Given the description of an element on the screen output the (x, y) to click on. 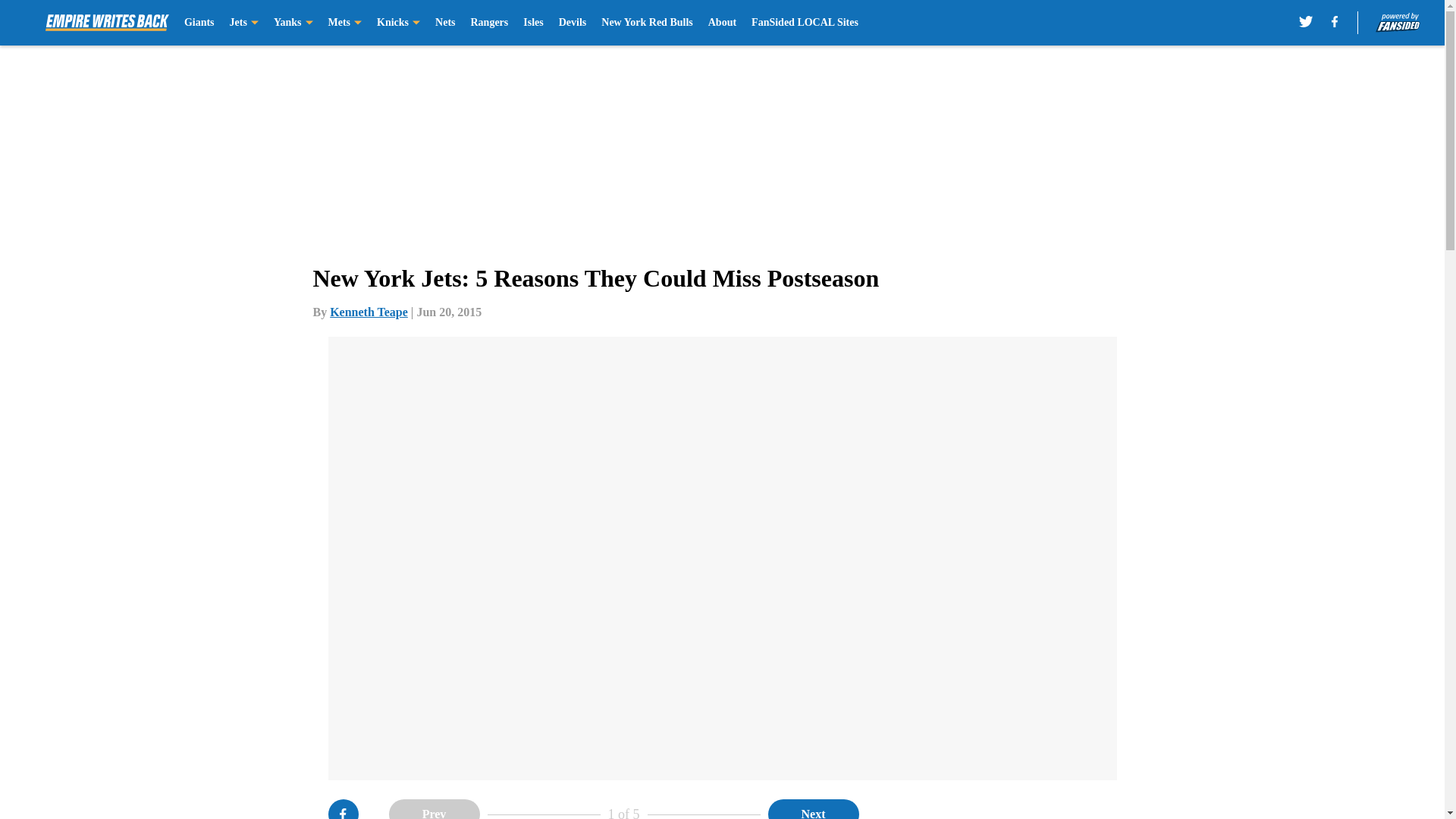
FanSided LOCAL Sites (805, 22)
About (721, 22)
Next (813, 809)
New York Red Bulls (647, 22)
Rangers (489, 22)
Prev (433, 809)
Devils (572, 22)
Nets (444, 22)
Isles (532, 22)
Giants (199, 22)
